Given the description of an element on the screen output the (x, y) to click on. 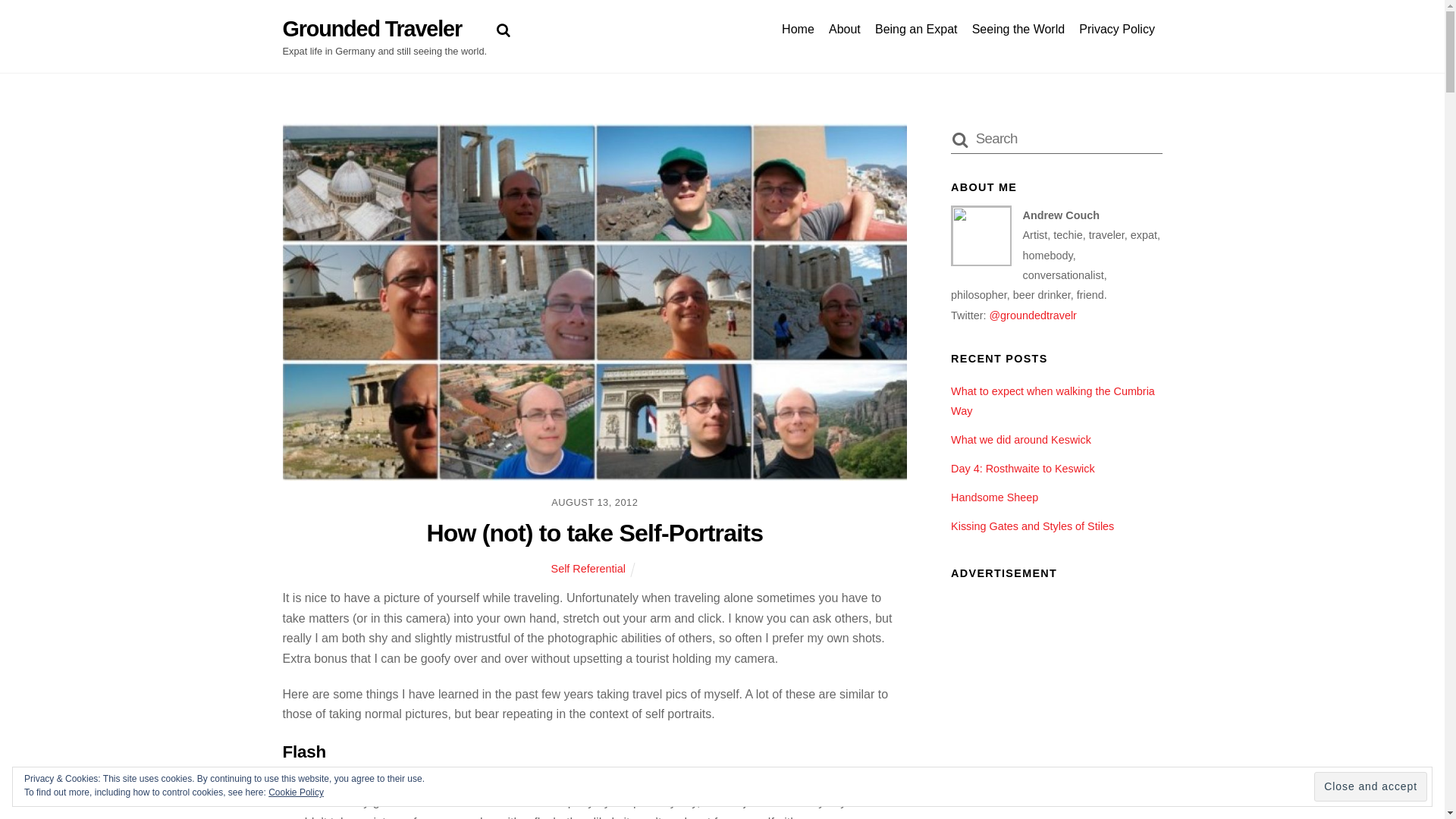
Grounded Traveler (371, 28)
Search (1055, 138)
About (844, 29)
Close and accept (1370, 786)
Seeing the World (1017, 29)
Home (798, 29)
Grounded Traveler (371, 28)
Being an Expat (915, 29)
Self Referential (588, 568)
Privacy Policy (1116, 29)
